Given the description of an element on the screen output the (x, y) to click on. 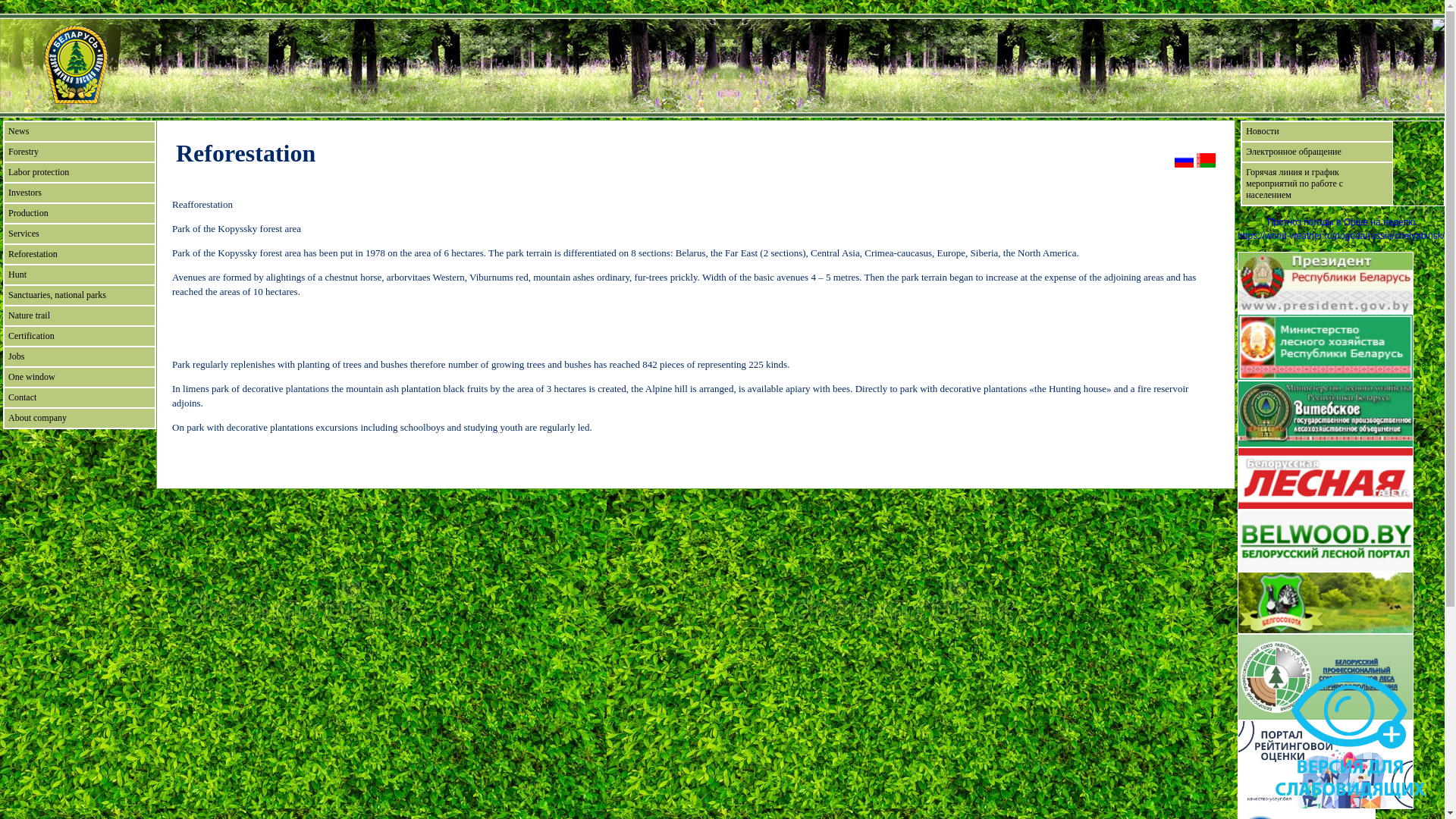
Jobs Element type: text (79, 356)
Contact Element type: text (79, 397)
One window Element type: text (79, 377)
Services Element type: text (79, 233)
About company Element type: text (79, 417)
Sanctuaries, national parks Element type: text (79, 295)
Forestry Element type: text (79, 151)
Hunt Element type: text (79, 274)
Production Element type: text (79, 213)
Investors Element type: text (79, 192)
News Element type: text (79, 131)
Nature trail Element type: text (79, 315)
Labor protection Element type: text (79, 172)
Certification Element type: text (79, 336)
https://world-weather.ru/pogoda/russia/chelyabinsk/ Element type: text (1340, 235)
Reforestation Element type: text (79, 254)
